Given the description of an element on the screen output the (x, y) to click on. 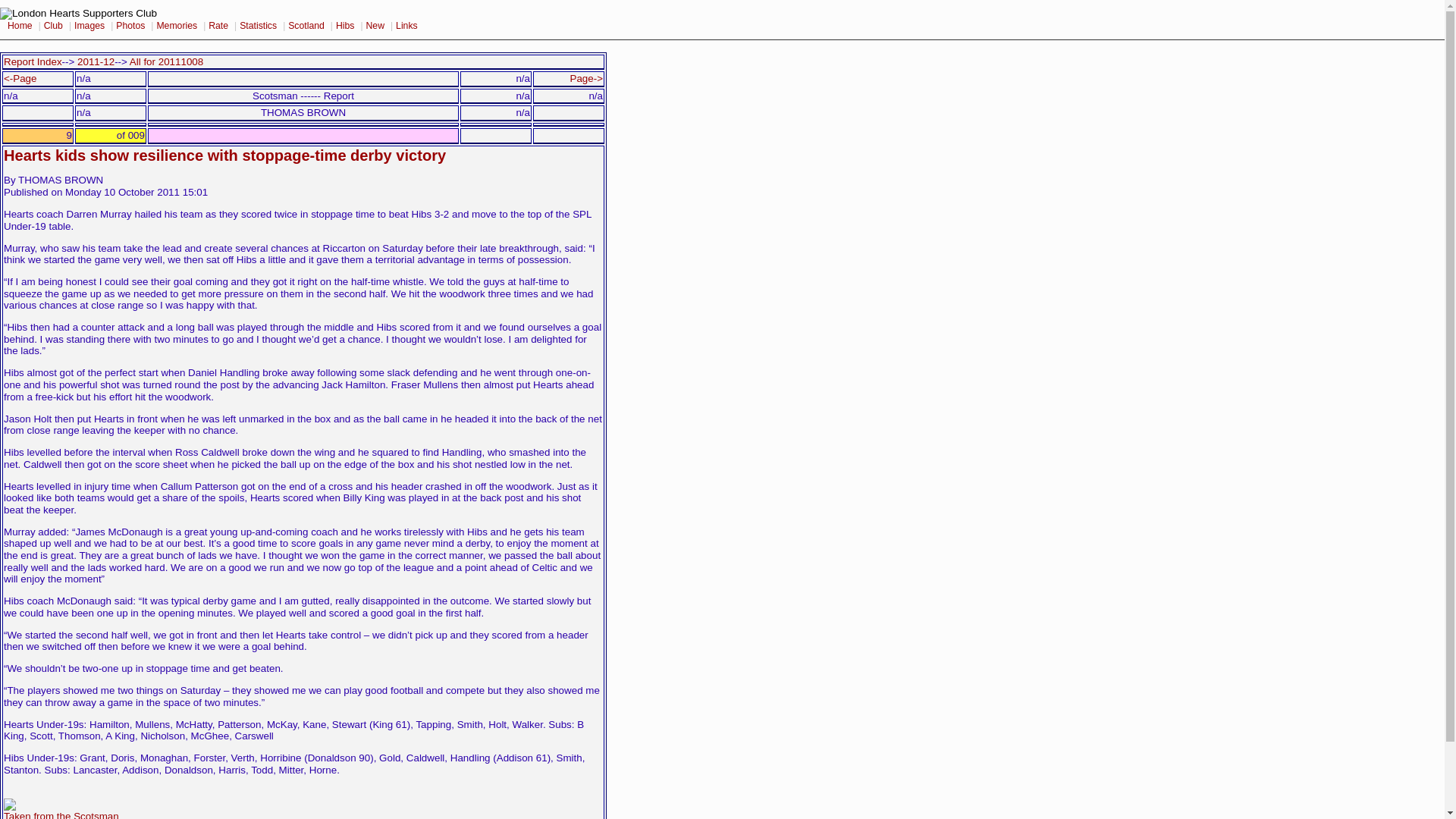
Photos (132, 25)
Images (90, 25)
Statistics (259, 25)
All for 20111008 (166, 61)
Hibs (346, 25)
Club (54, 25)
Home (20, 25)
Taken from the Scotsman (61, 810)
Links (408, 25)
Scotland (307, 25)
